Given the description of an element on the screen output the (x, y) to click on. 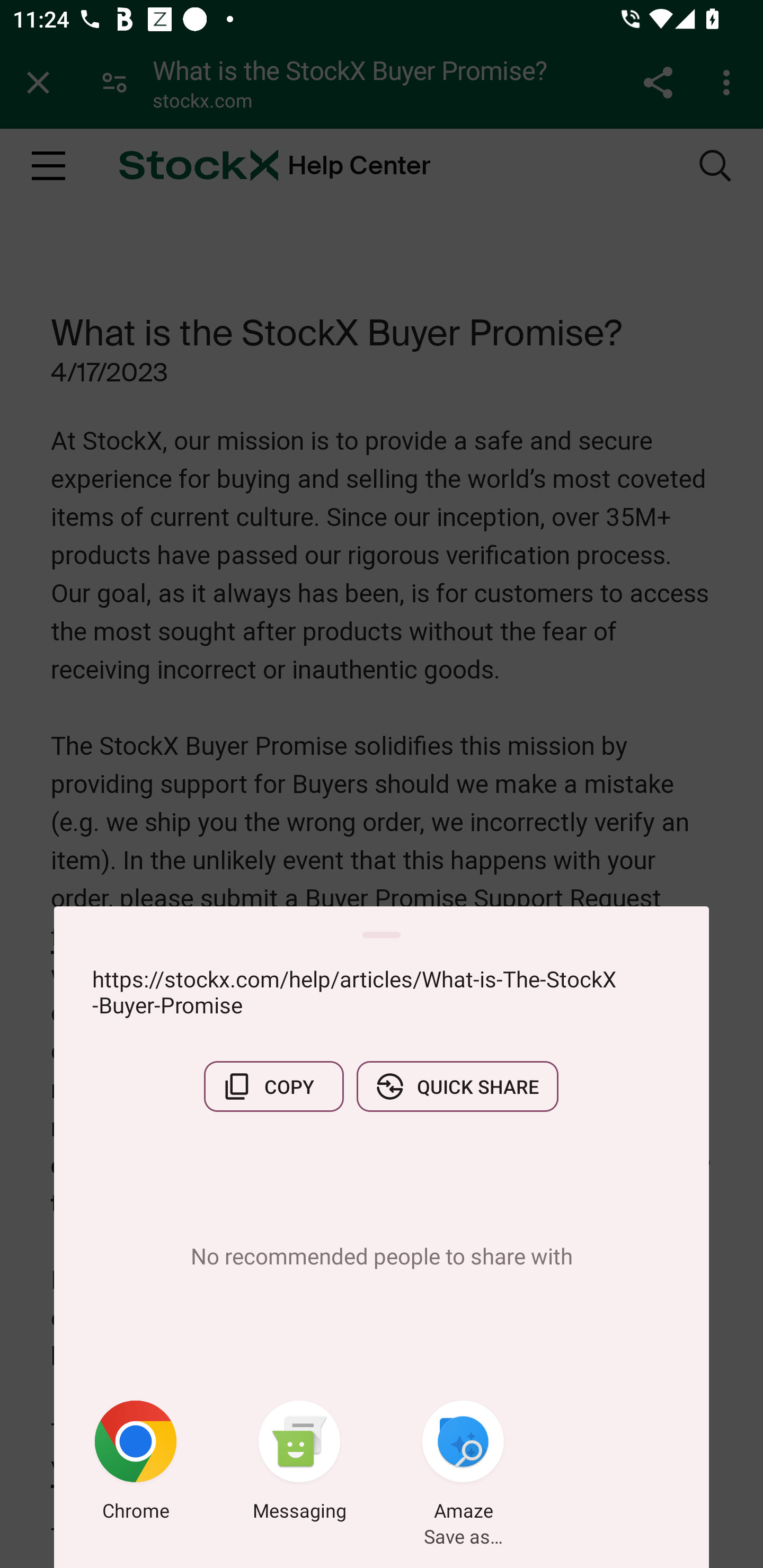
COPY (273, 1086)
QUICK SHARE (457, 1086)
Chrome (135, 1463)
Messaging (299, 1463)
Amaze Save as… (463, 1463)
